Given the description of an element on the screen output the (x, y) to click on. 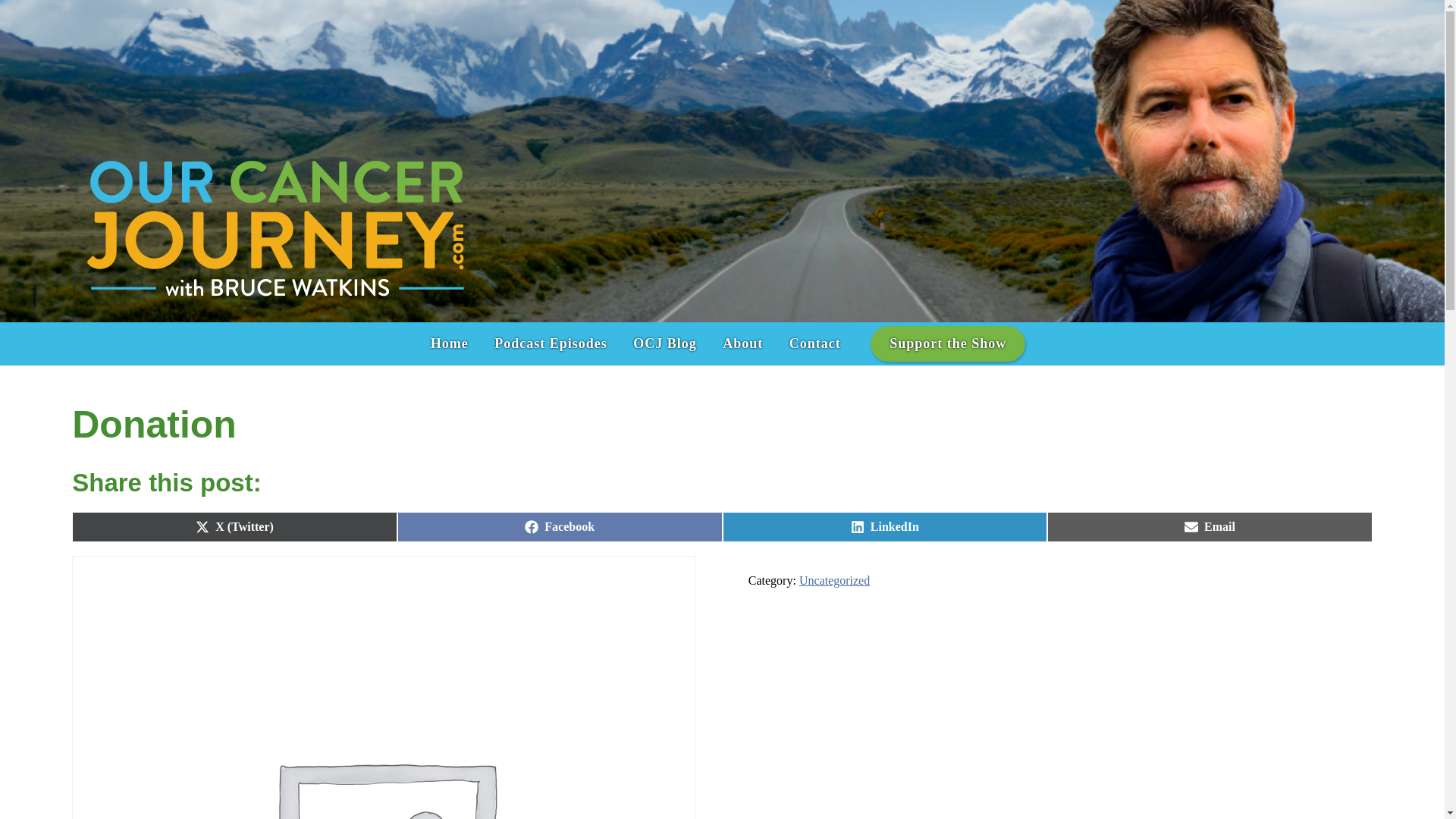
Podcast Episodes (550, 343)
Home (449, 343)
About (1209, 526)
Contact (884, 526)
Support the Show (742, 343)
OCJ Blog (559, 526)
Uncategorized (814, 343)
